Given the description of an element on the screen output the (x, y) to click on. 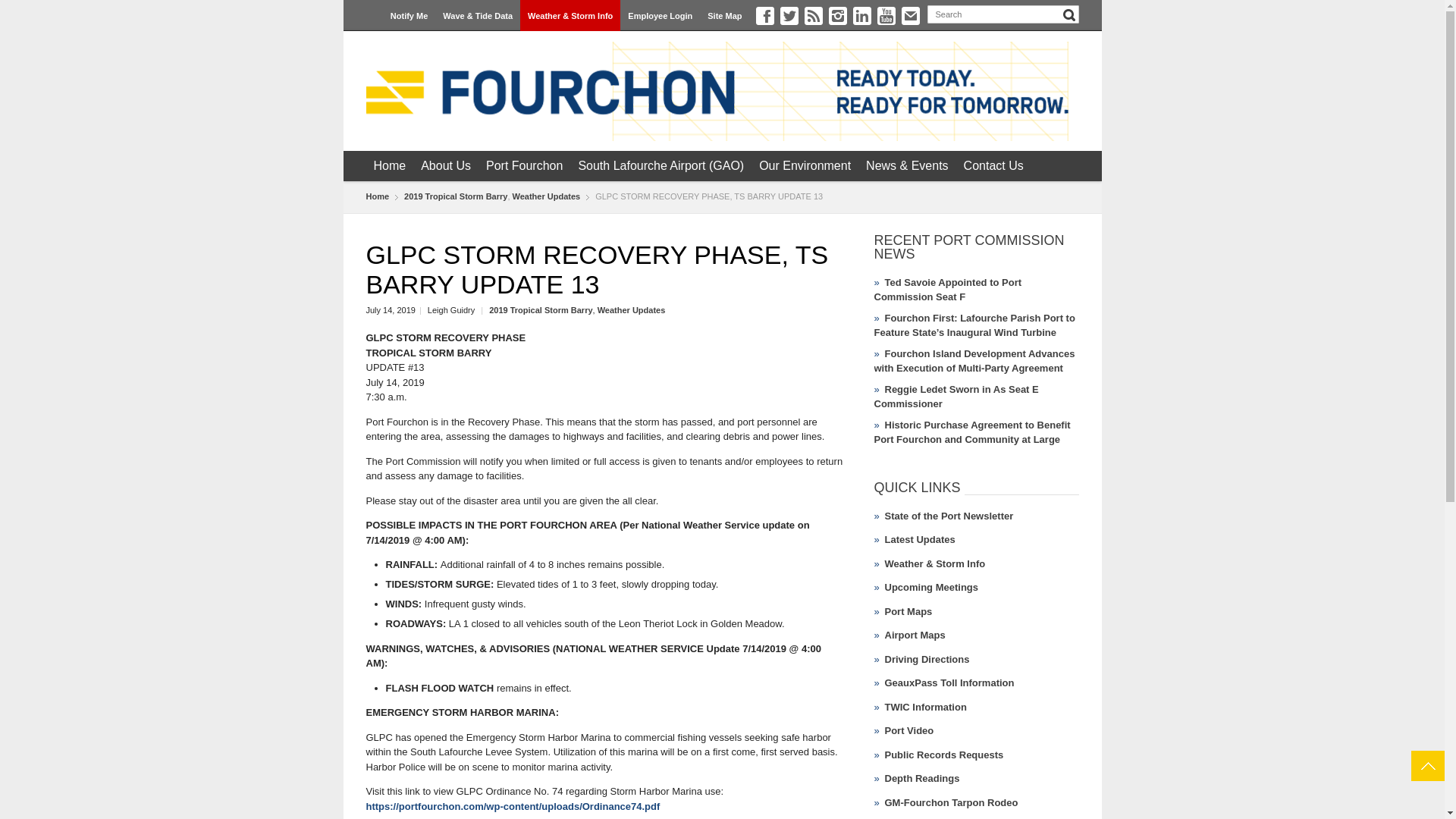
Employee Login (660, 15)
RSS (812, 15)
LinkedIn (860, 15)
Notify Me (408, 15)
About Us (446, 165)
Port Fourchon (524, 165)
YouTube (885, 15)
Facebook (764, 15)
Home (389, 165)
Instagram (836, 15)
